Given the description of an element on the screen output the (x, y) to click on. 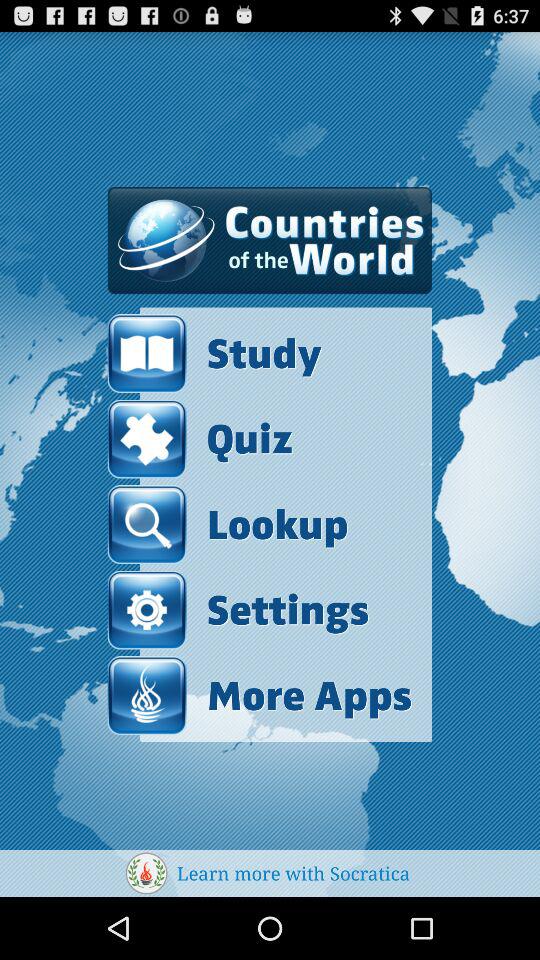
click the study icon (259, 353)
